Given the description of an element on the screen output the (x, y) to click on. 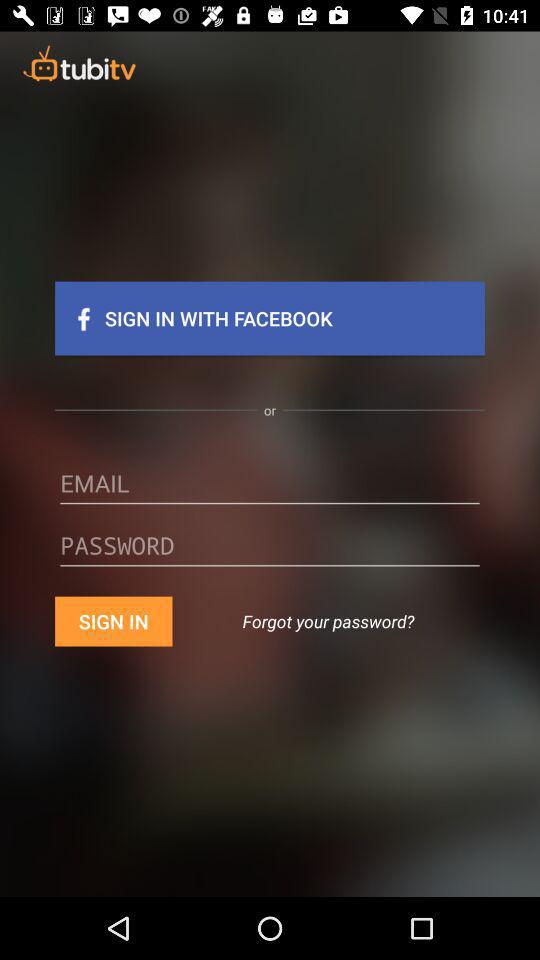
enter password (269, 552)
